Given the description of an element on the screen output the (x, y) to click on. 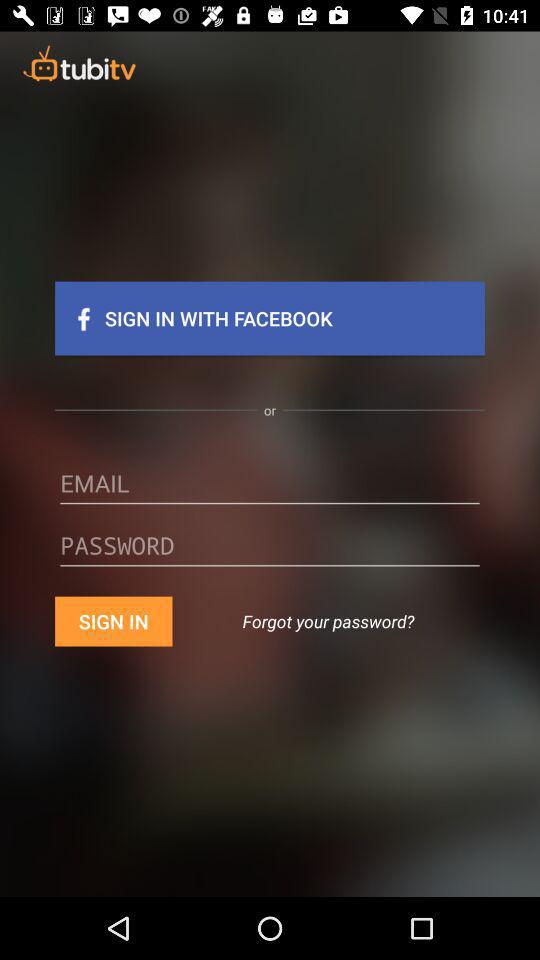
enter password (269, 552)
